Given the description of an element on the screen output the (x, y) to click on. 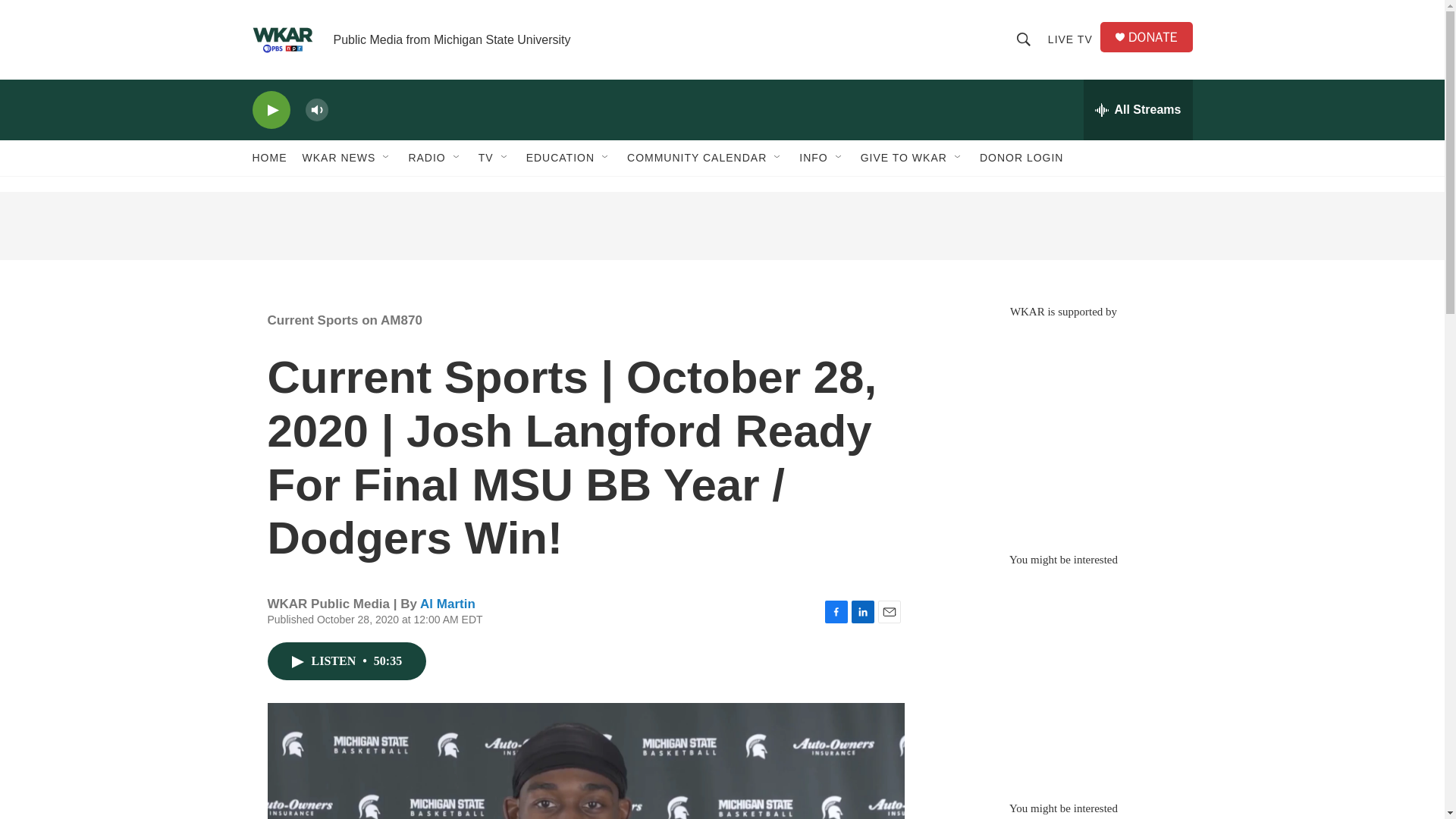
3rd party ad content (1062, 677)
3rd party ad content (1062, 428)
3rd party ad content (721, 225)
